Given the description of an element on the screen output the (x, y) to click on. 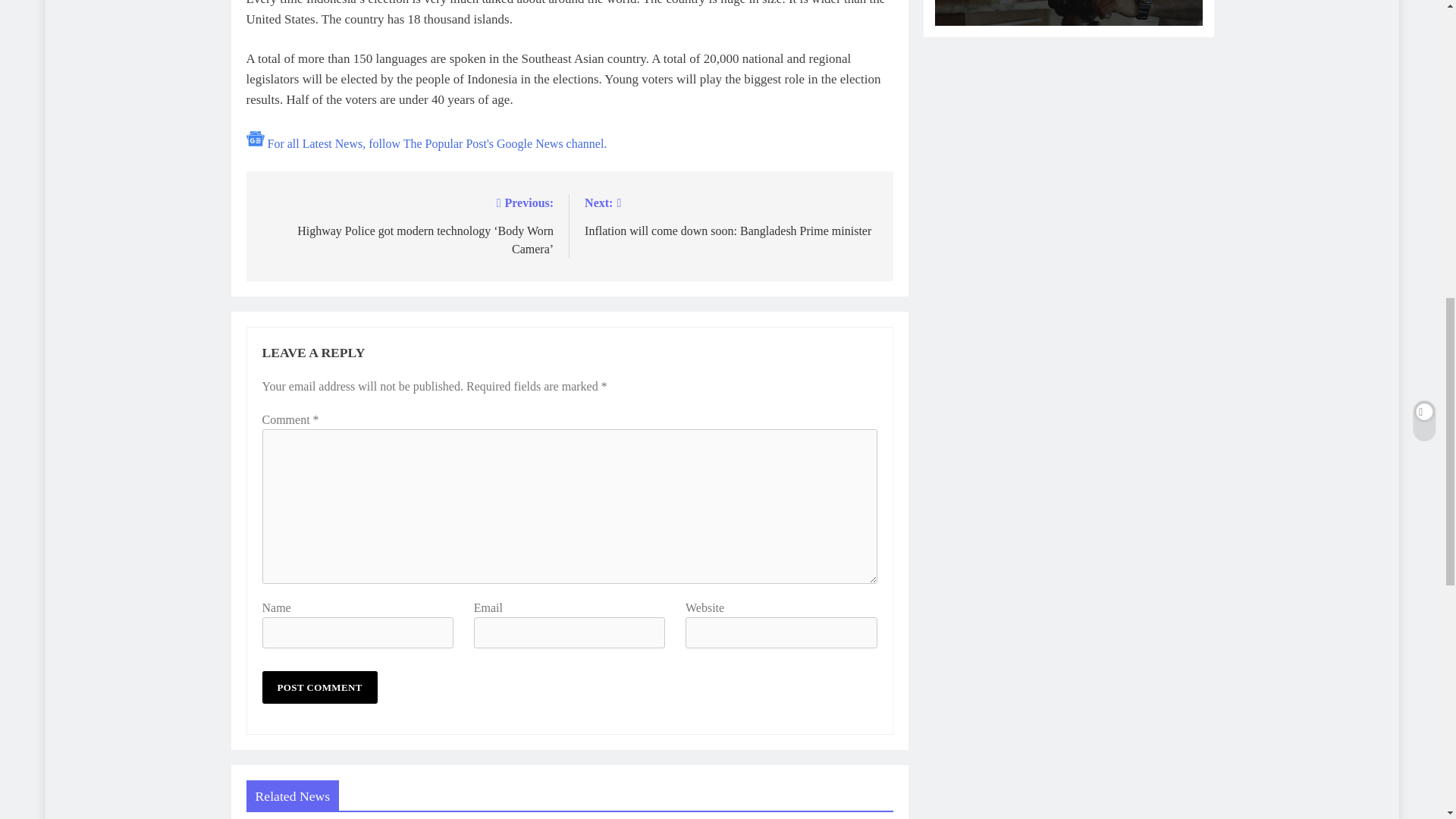
Post Comment (319, 686)
Post Comment (319, 686)
